Given the description of an element on the screen output the (x, y) to click on. 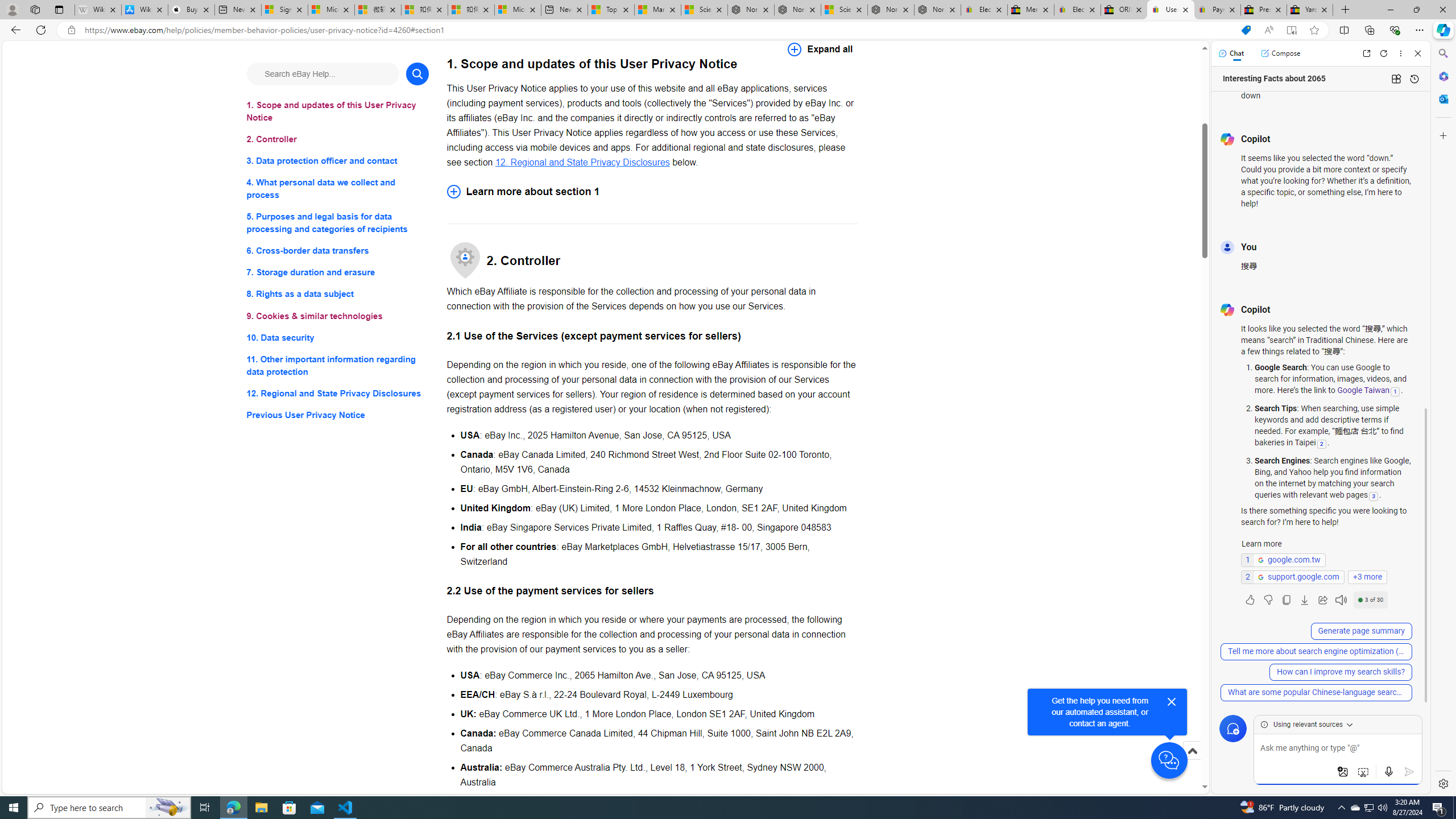
Scroll to top (1191, 750)
6. Cross-border data transfers (337, 250)
2. Controller (337, 138)
Previous User Privacy Notice (337, 414)
3. Data protection officer and contact (337, 160)
11. Other important information regarding data protection (337, 365)
